Given the description of an element on the screen output the (x, y) to click on. 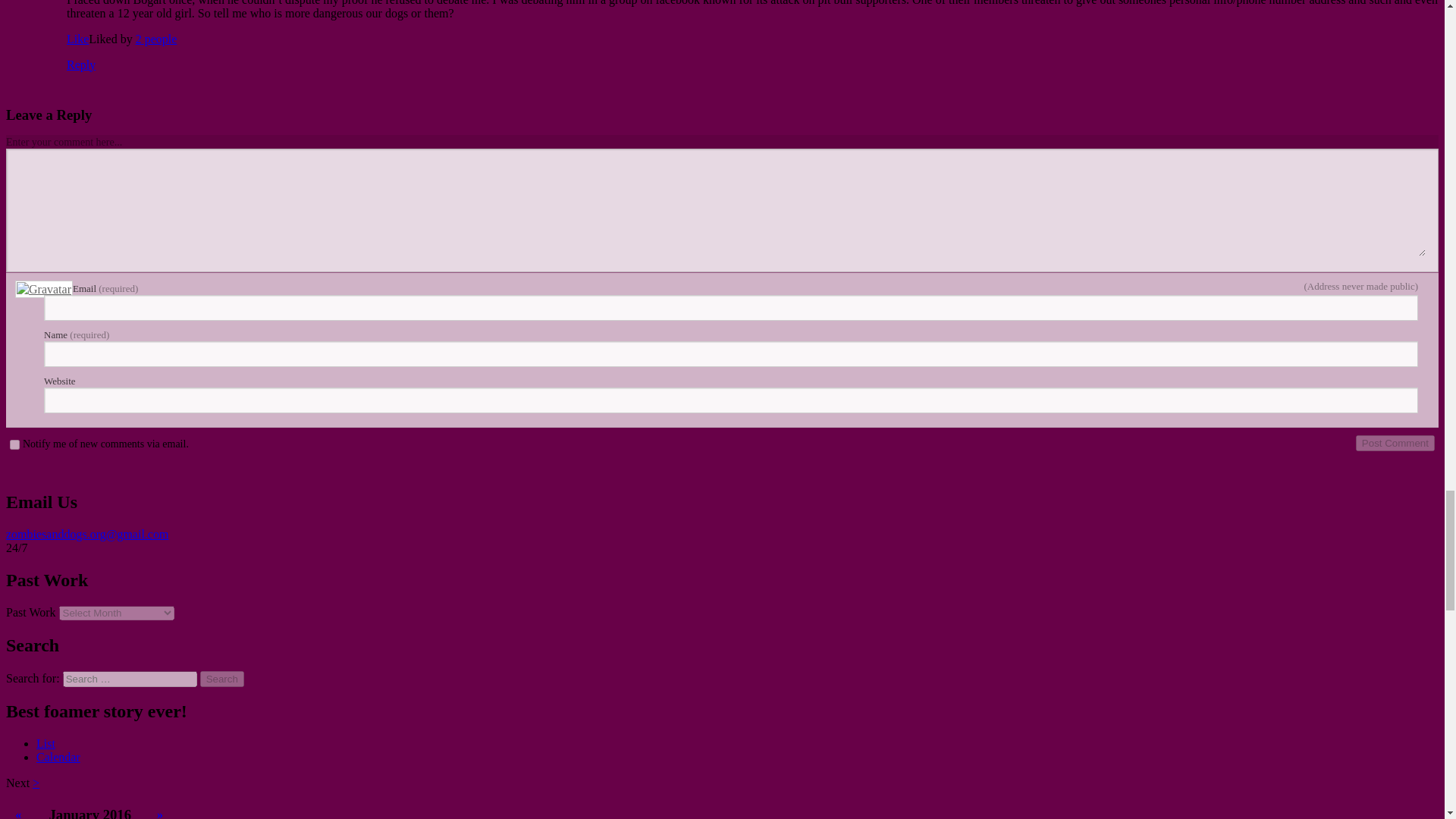
Search (222, 678)
Enter your comment here... (721, 208)
subscribe (15, 444)
Search (222, 678)
